Given the description of an element on the screen output the (x, y) to click on. 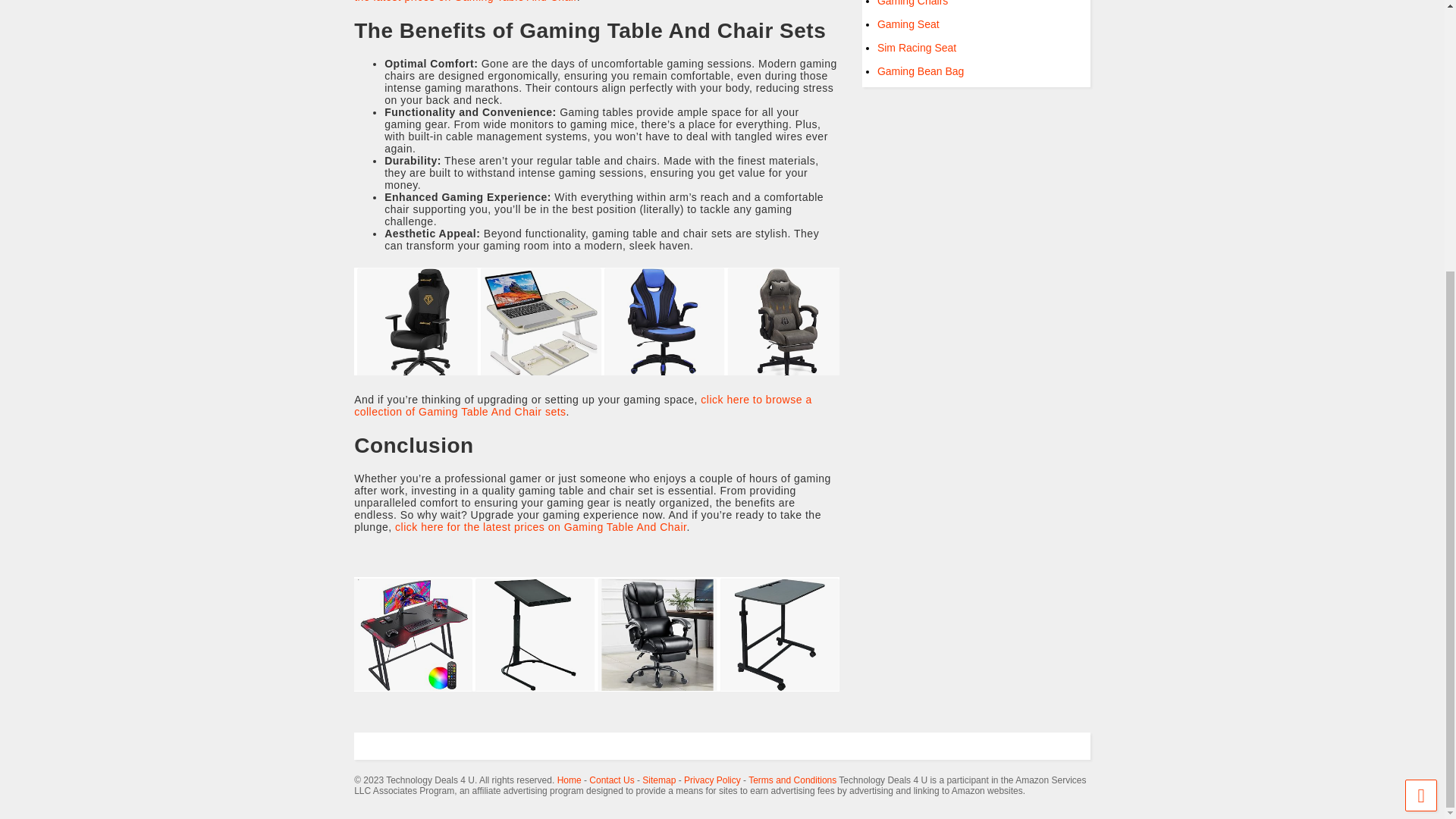
Privacy Policy (712, 779)
Sitemap (658, 779)
click here for the latest prices on Gaming Table And Chair (539, 526)
Contact Us (611, 779)
Gaming Seat (908, 24)
Home (568, 779)
Gaming Chairs (912, 3)
Sim Racing Seat (916, 47)
Gaming Bean Bag (920, 70)
Terms and Conditions (791, 779)
